Given the description of an element on the screen output the (x, y) to click on. 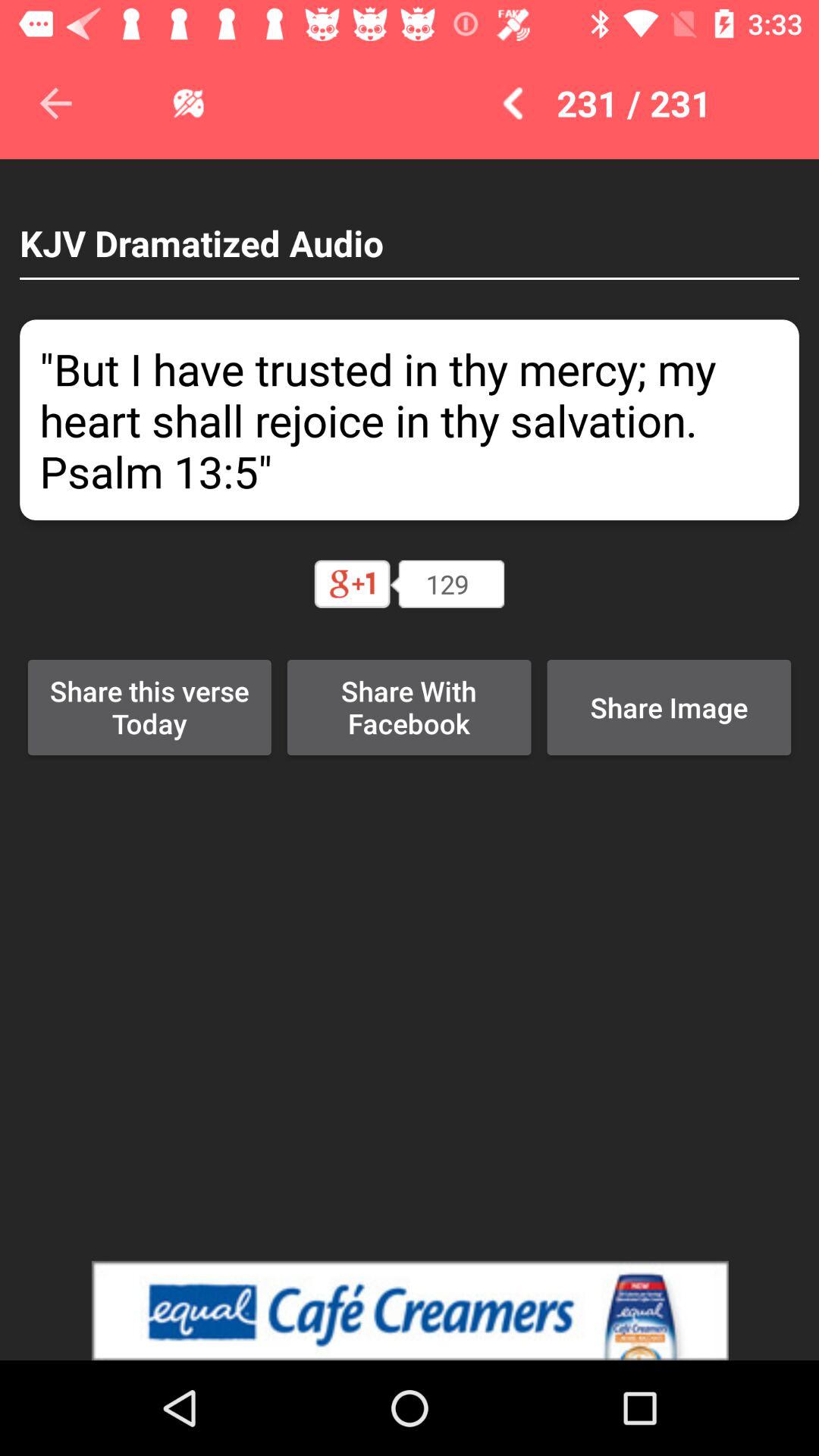
go back (55, 103)
